Given the description of an element on the screen output the (x, y) to click on. 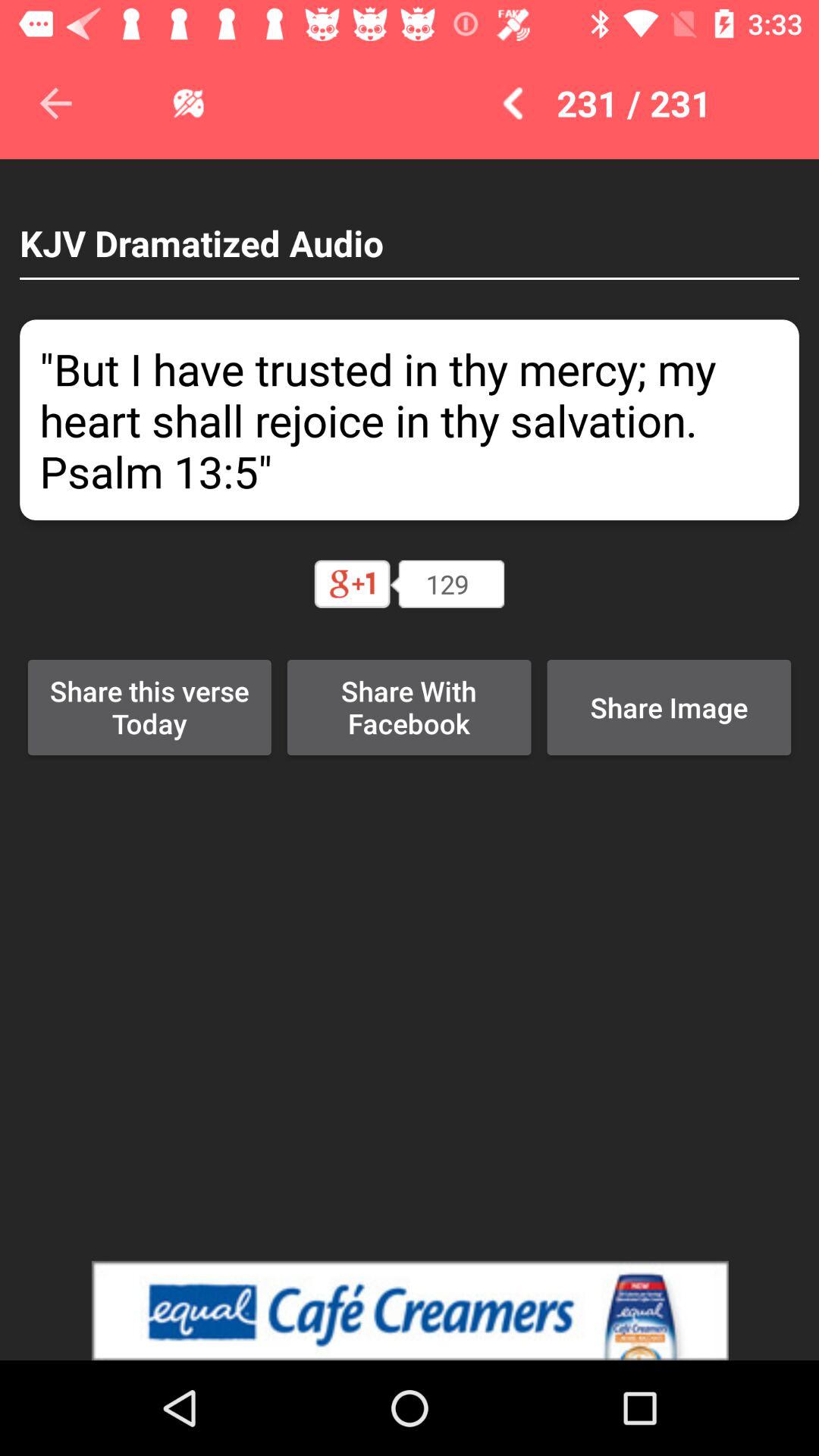
go back (55, 103)
